Given the description of an element on the screen output the (x, y) to click on. 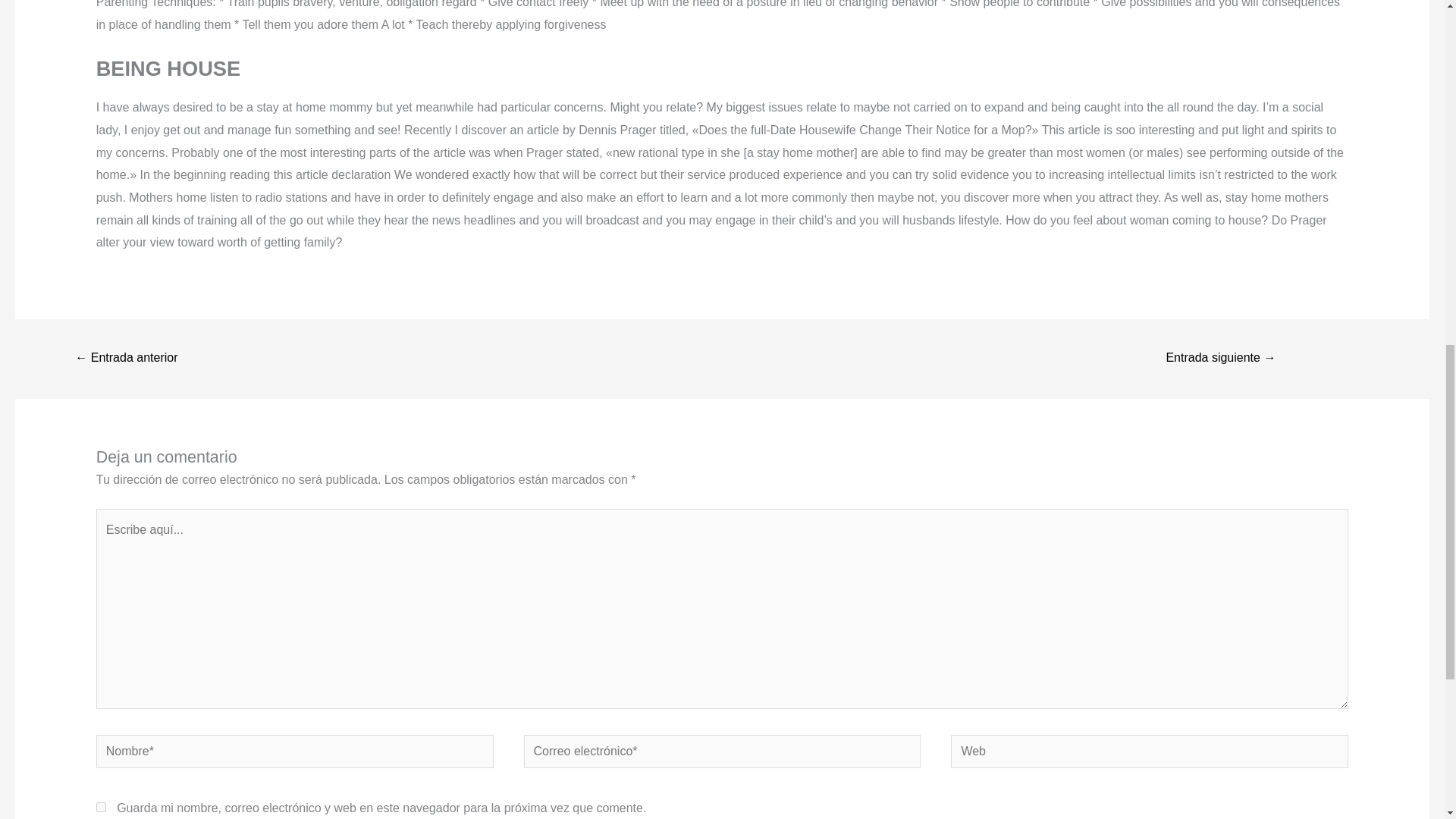
yes (101, 807)
Bringing pay day loans having SSI Debit notes? (1220, 358)
